Given the description of an element on the screen output the (x, y) to click on. 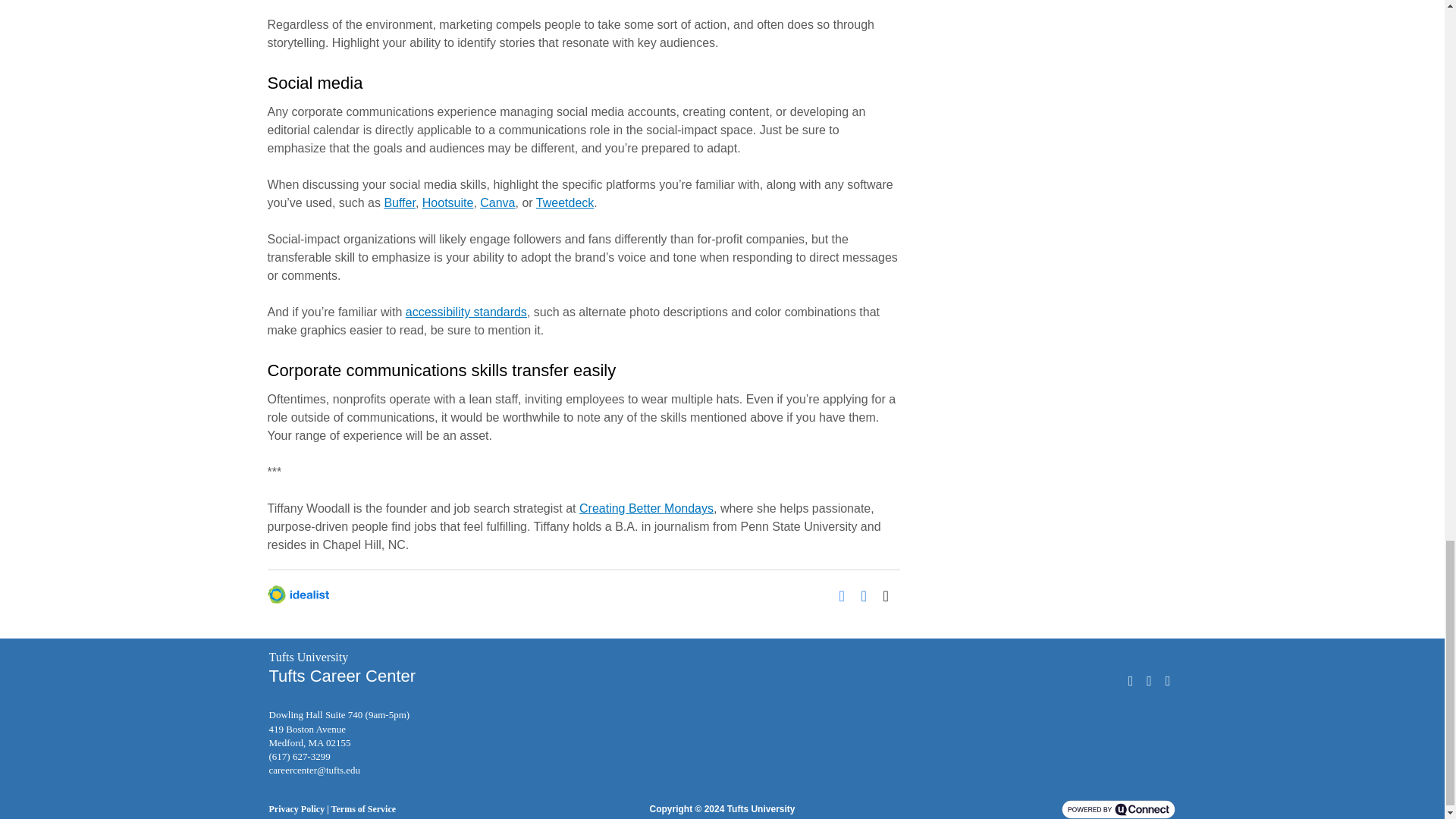
Click to share on LinkedIn (868, 594)
Click to share on Twitter (889, 594)
Powered by Idealist Careers (297, 594)
Click to share on Facebook (846, 594)
